Given the description of an element on the screen output the (x, y) to click on. 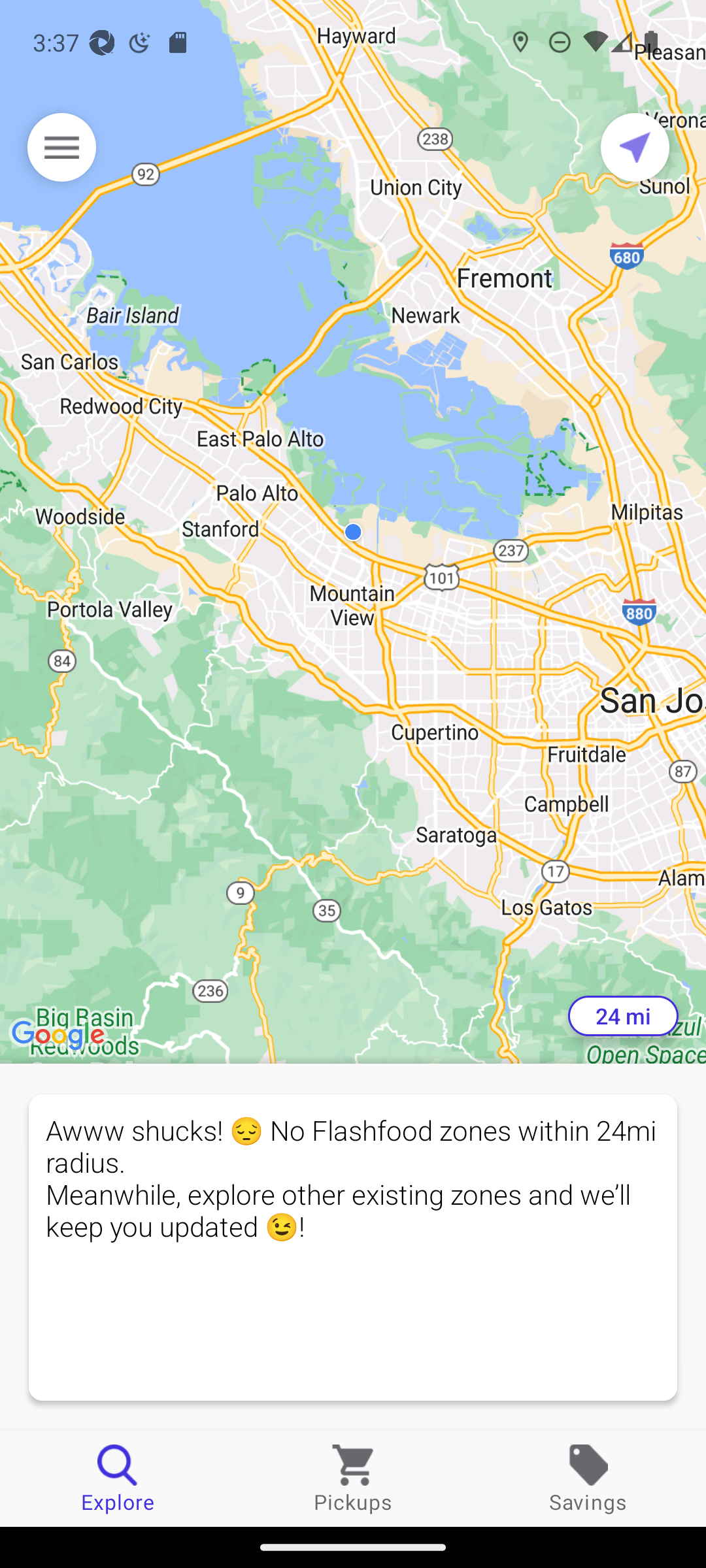
Menu (61, 146)
Current location (634, 146)
24 mi (623, 1015)
Pickups (352, 1478)
Savings (588, 1478)
